Given the description of an element on the screen output the (x, y) to click on. 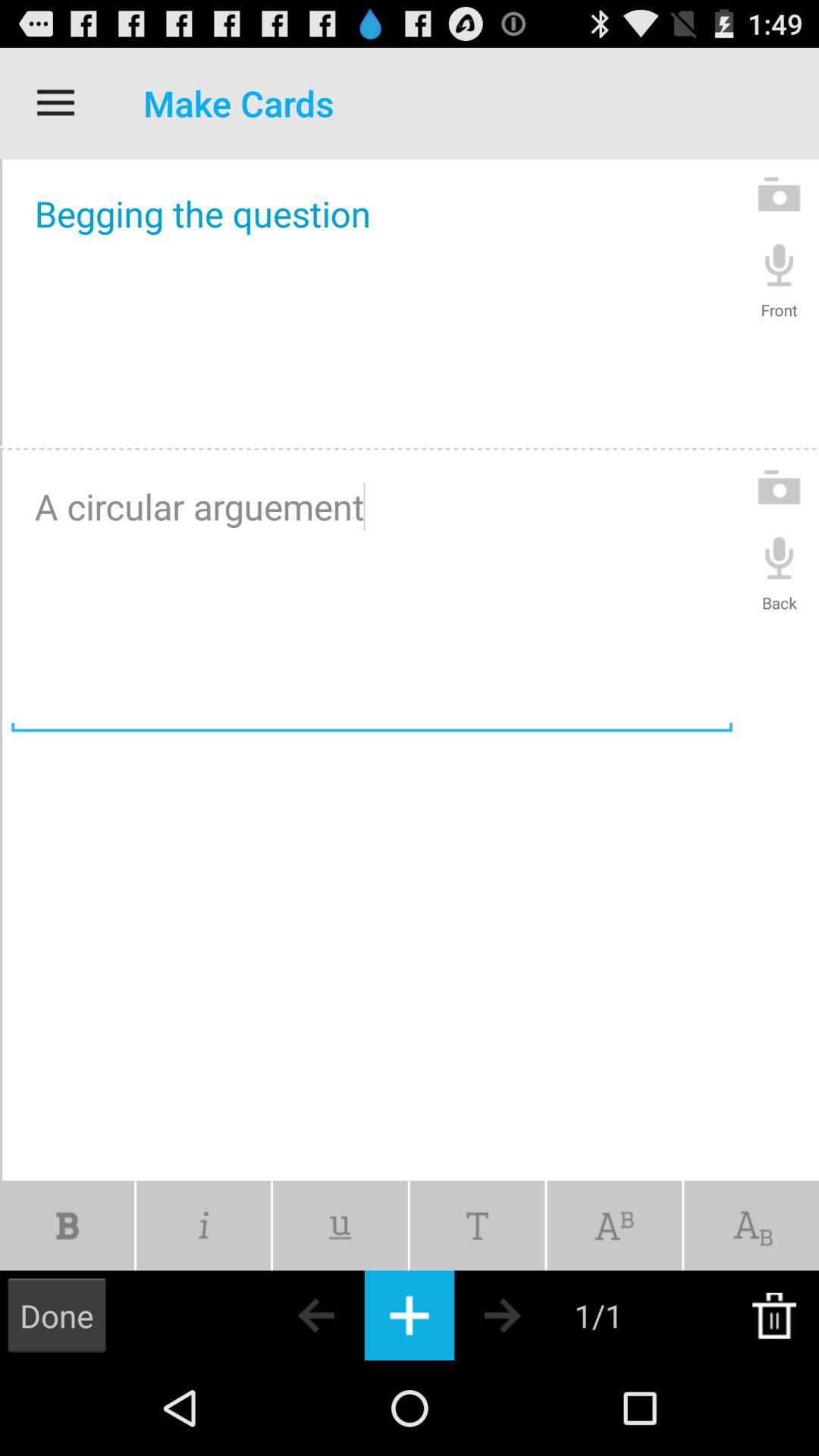
choose the item above the done icon (67, 1225)
